Given the description of an element on the screen output the (x, y) to click on. 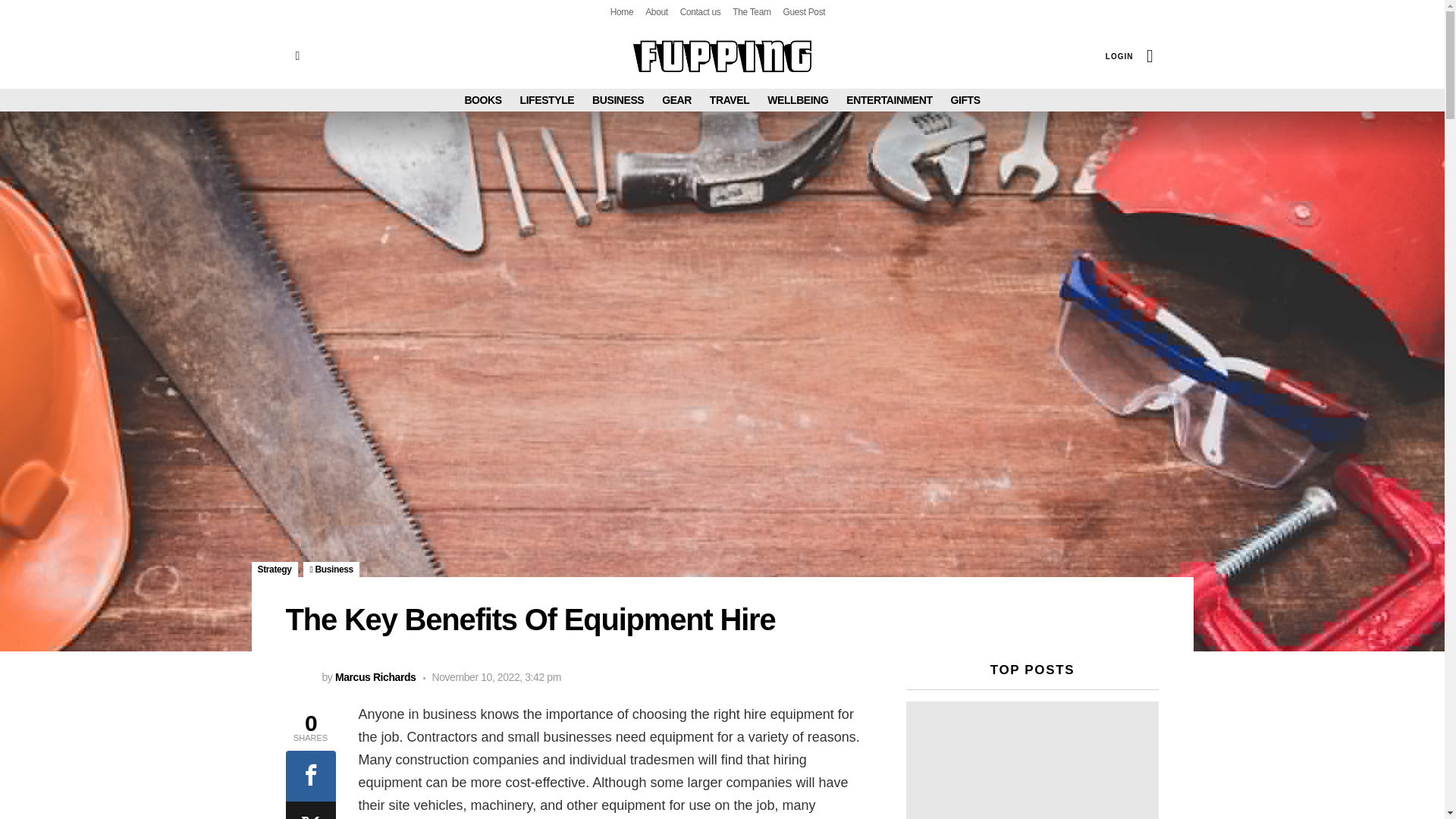
Menu (296, 55)
GEAR (675, 99)
Strategy (274, 569)
BUSINESS (617, 99)
WELLBEING (797, 99)
LOGIN (1119, 56)
Posts by Marcus Richards (375, 676)
Contact us (699, 12)
BOOKS (482, 99)
LIFESTYLE (547, 99)
